Given the description of an element on the screen output the (x, y) to click on. 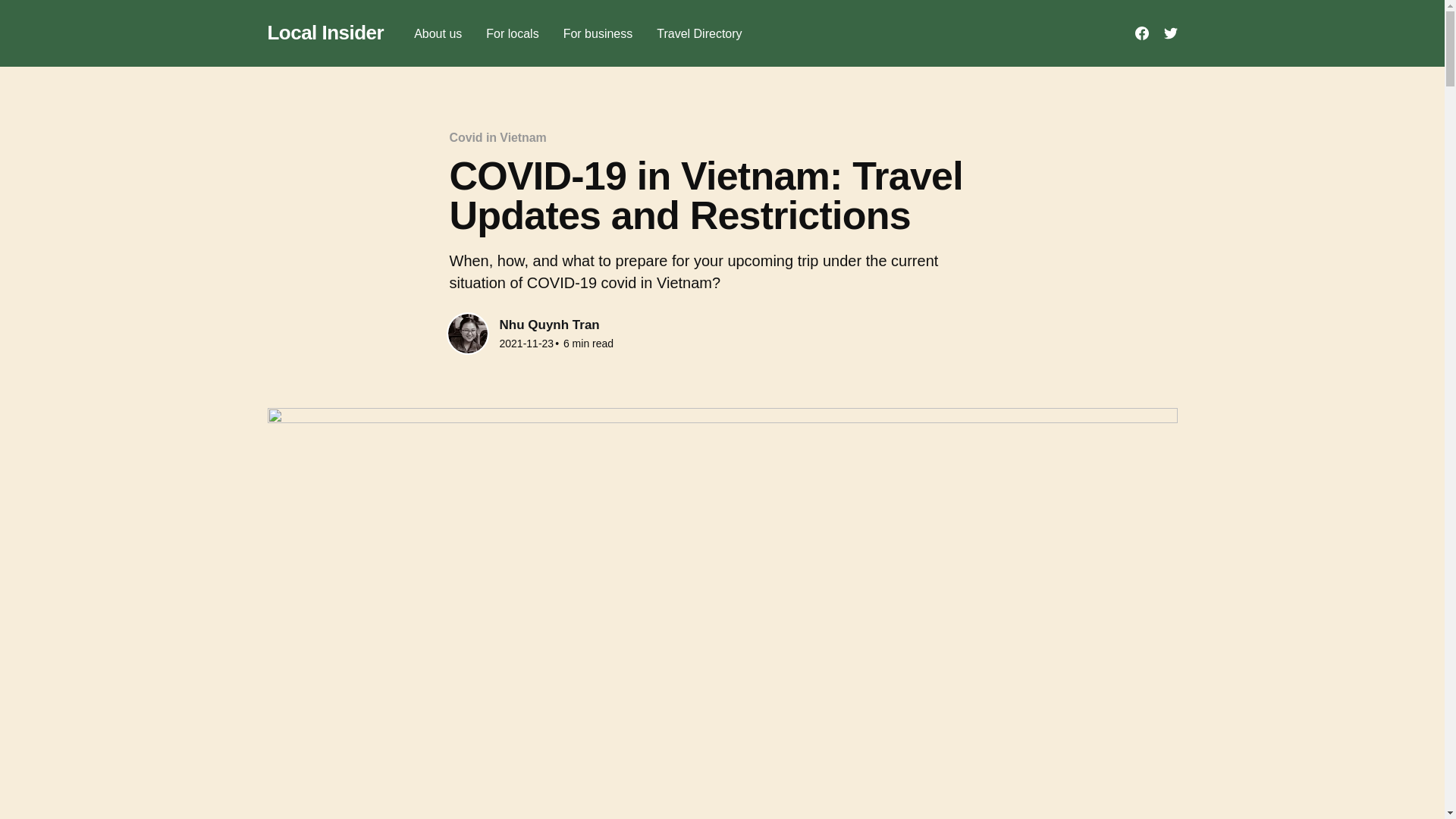
Covid in Vietnam (497, 137)
For business (598, 33)
Local Insider (325, 32)
Facebook (1141, 33)
Nhu Quynh Tran (548, 324)
About us (437, 33)
Travel Directory (698, 33)
Twitter (1169, 33)
For locals (512, 33)
